Given the description of an element on the screen output the (x, y) to click on. 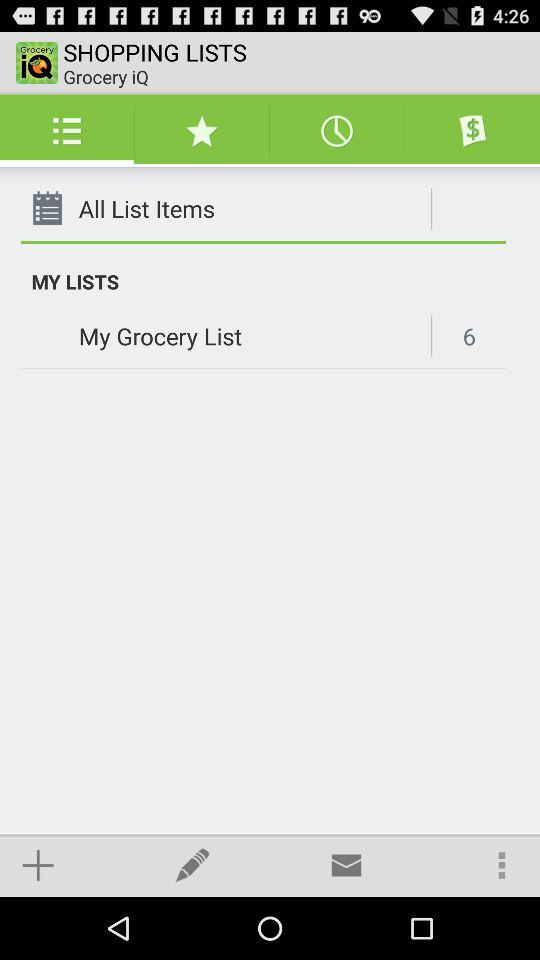
select item below 6 item (501, 864)
